Given the description of an element on the screen output the (x, y) to click on. 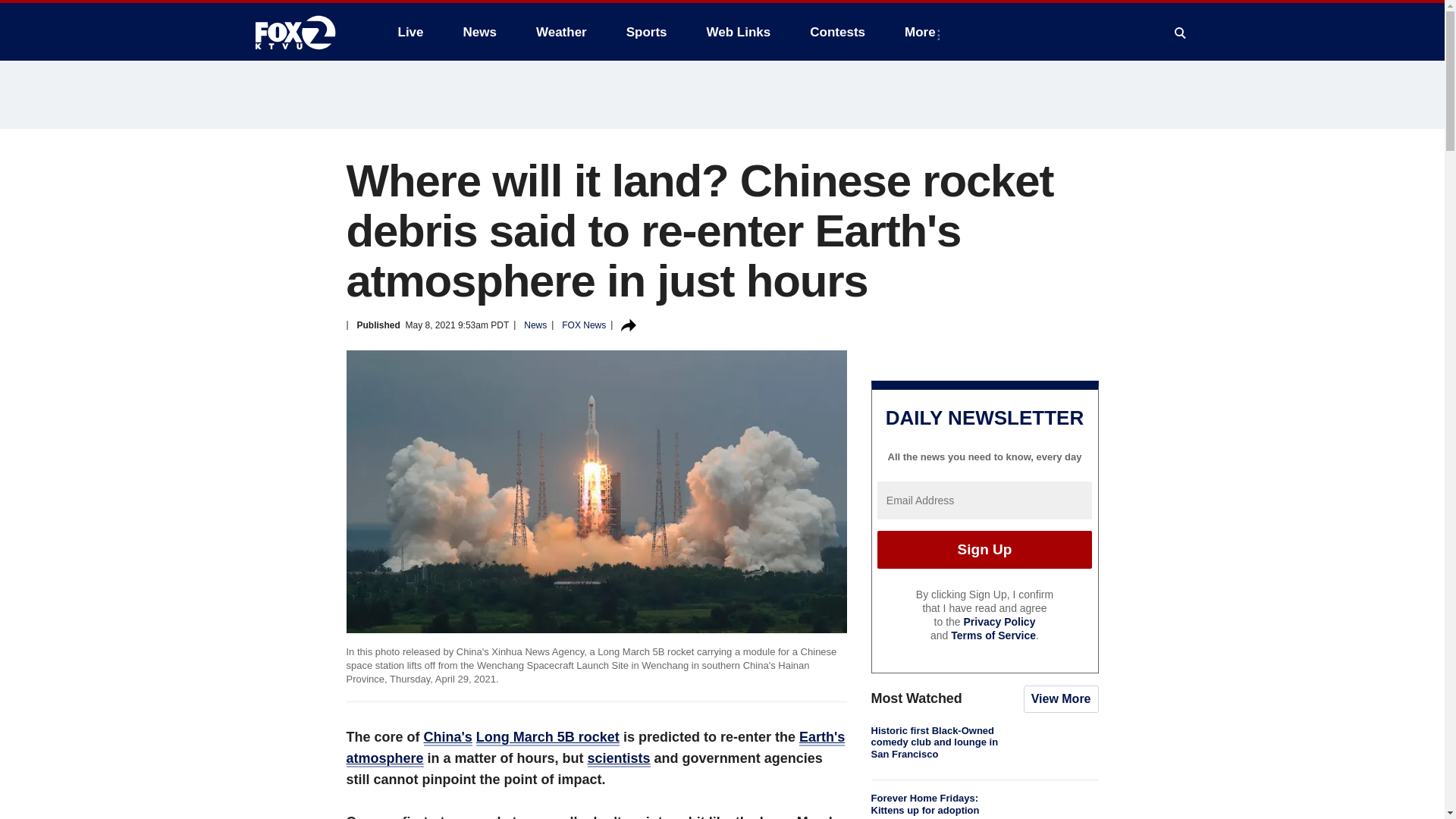
Web Links (738, 32)
More (922, 32)
Sign Up (984, 549)
News (479, 32)
Sports (646, 32)
Contests (837, 32)
Live (410, 32)
Weather (561, 32)
